Given the description of an element on the screen output the (x, y) to click on. 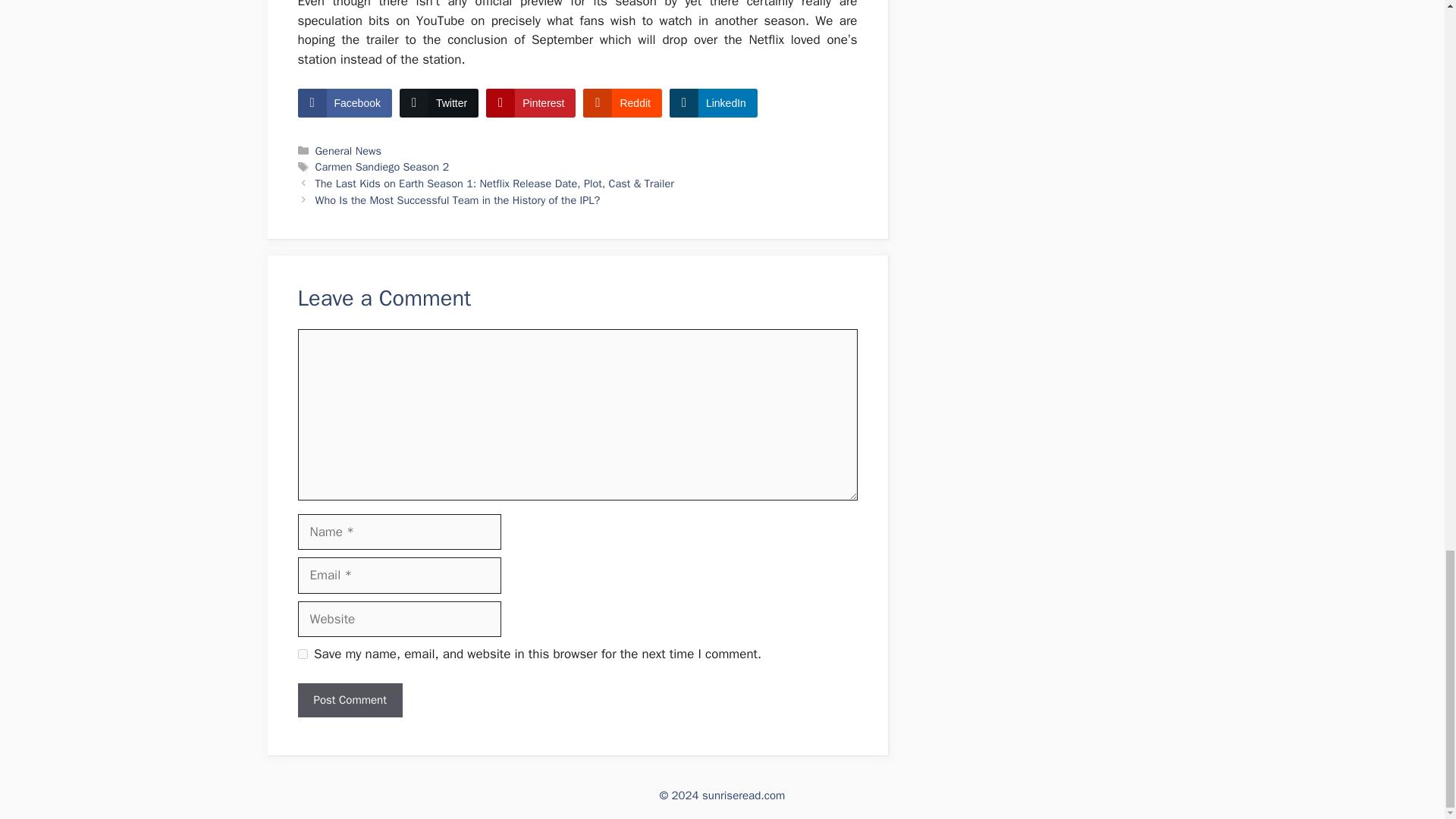
Reddit (622, 102)
Pinterest (530, 102)
yes (302, 654)
Carmen Sandiego Season 2 (381, 166)
Facebook (344, 102)
General News (348, 151)
LinkedIn (713, 102)
Twitter (438, 102)
Who Is the Most Successful Team in the History of the IPL? (457, 200)
Post Comment (349, 700)
